Given the description of an element on the screen output the (x, y) to click on. 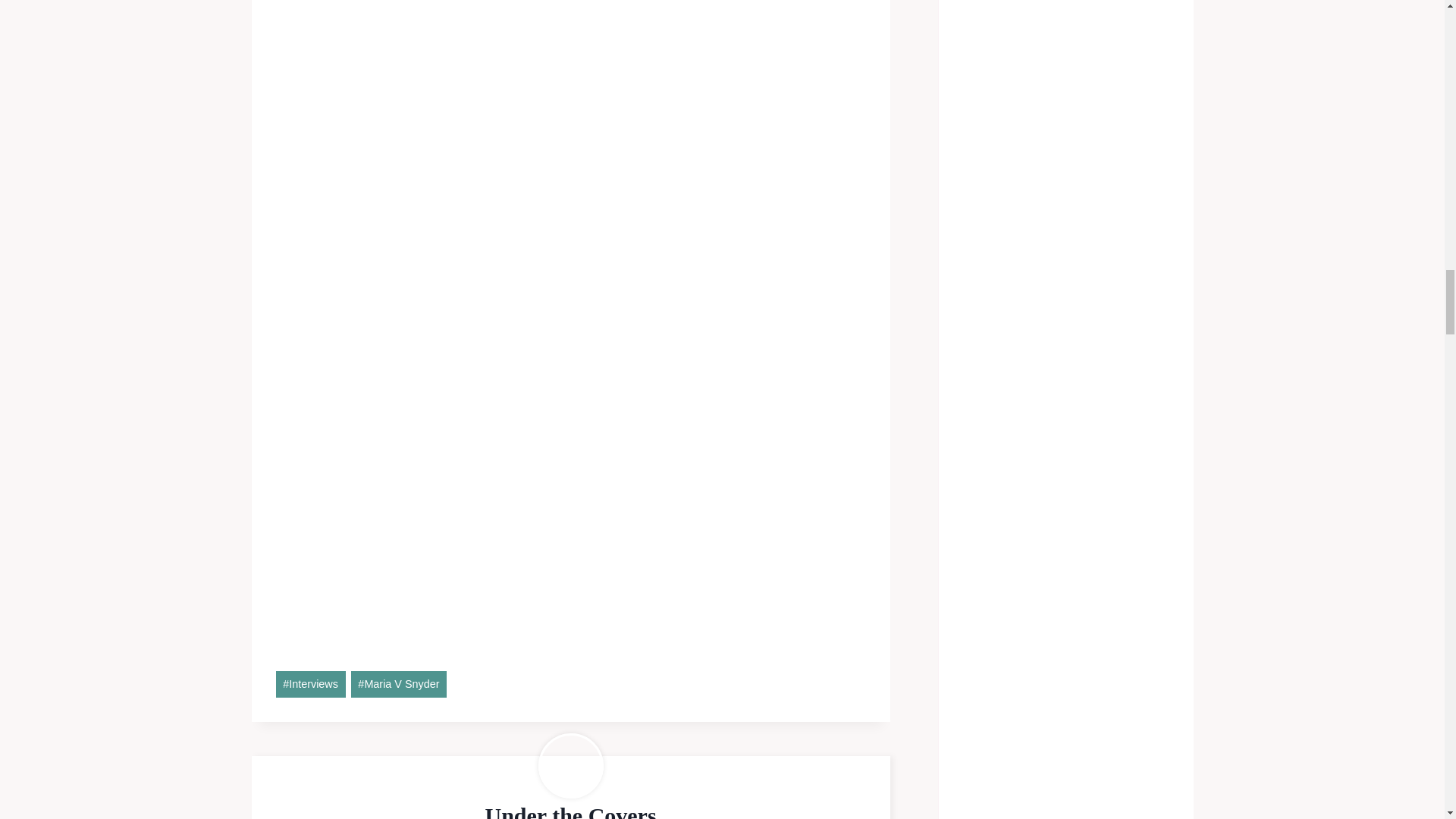
Under the Covers (570, 811)
Posts by Under the Covers (570, 811)
Maria V Snyder (398, 683)
Interviews (311, 683)
